Given the description of an element on the screen output the (x, y) to click on. 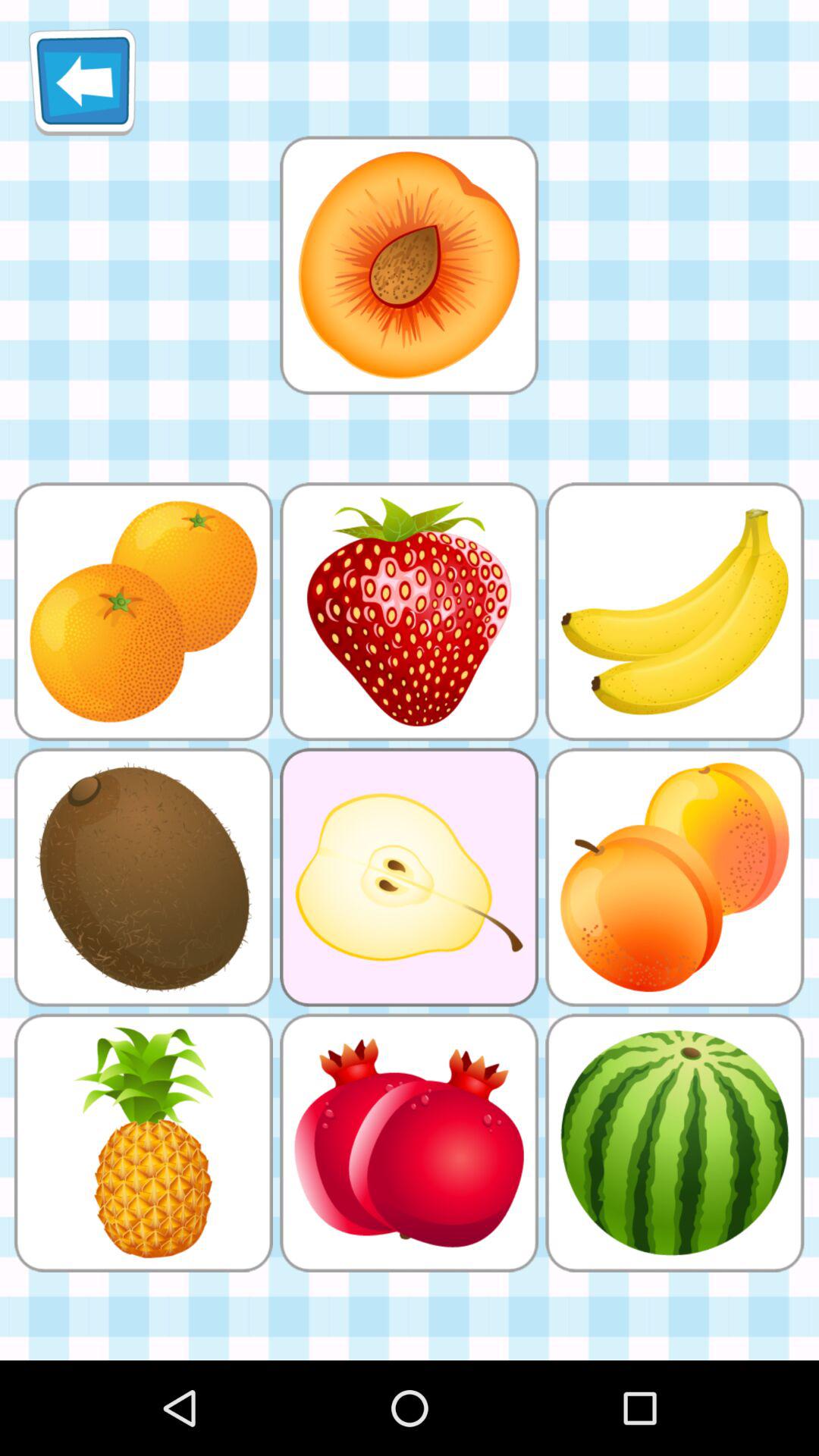
click icon at the top left corner (82, 82)
